Given the description of an element on the screen output the (x, y) to click on. 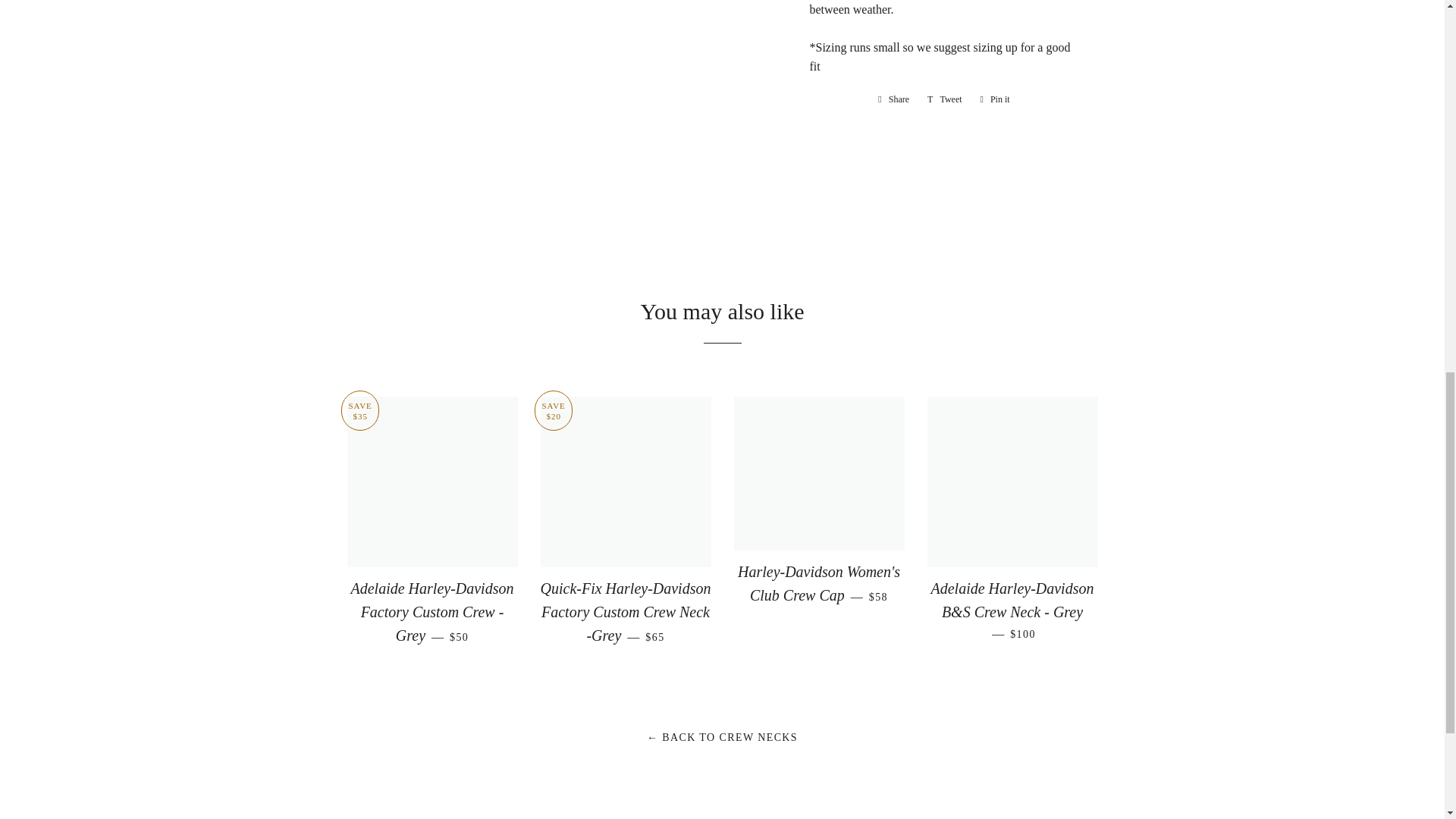
Tweet on Twitter (944, 98)
Share on Facebook (893, 98)
Pin on Pinterest (994, 98)
